Given the description of an element on the screen output the (x, y) to click on. 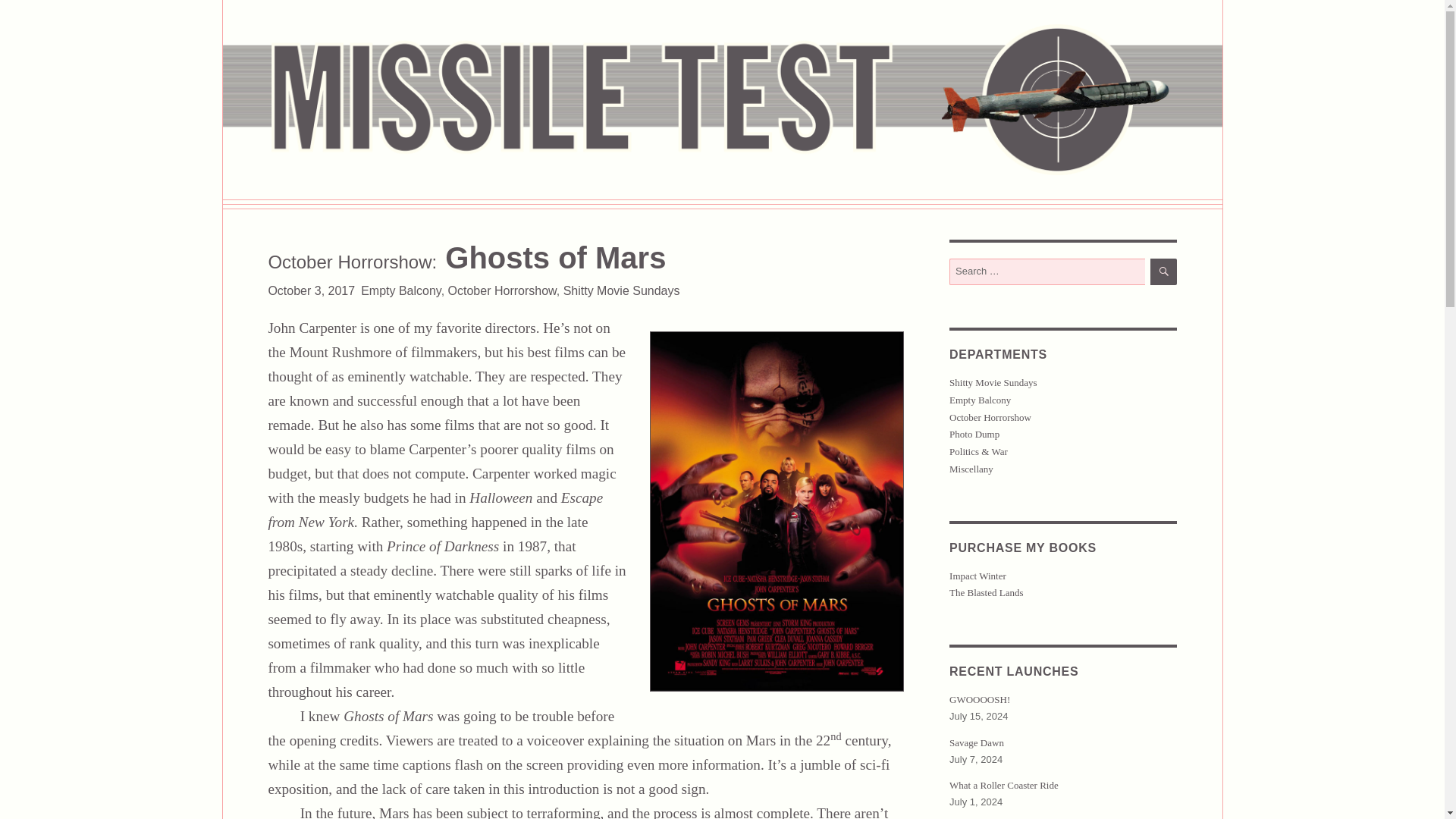
Empty Balcony (401, 290)
Empty Balcony (979, 399)
SEARCH (1163, 271)
October Horrorshow (989, 417)
October Horrorshow (502, 290)
October 3, 2017 (311, 290)
Shitty Movie Sundays (621, 290)
Photo Dump (973, 433)
Shitty Movie Sundays (992, 382)
